Given the description of an element on the screen output the (x, y) to click on. 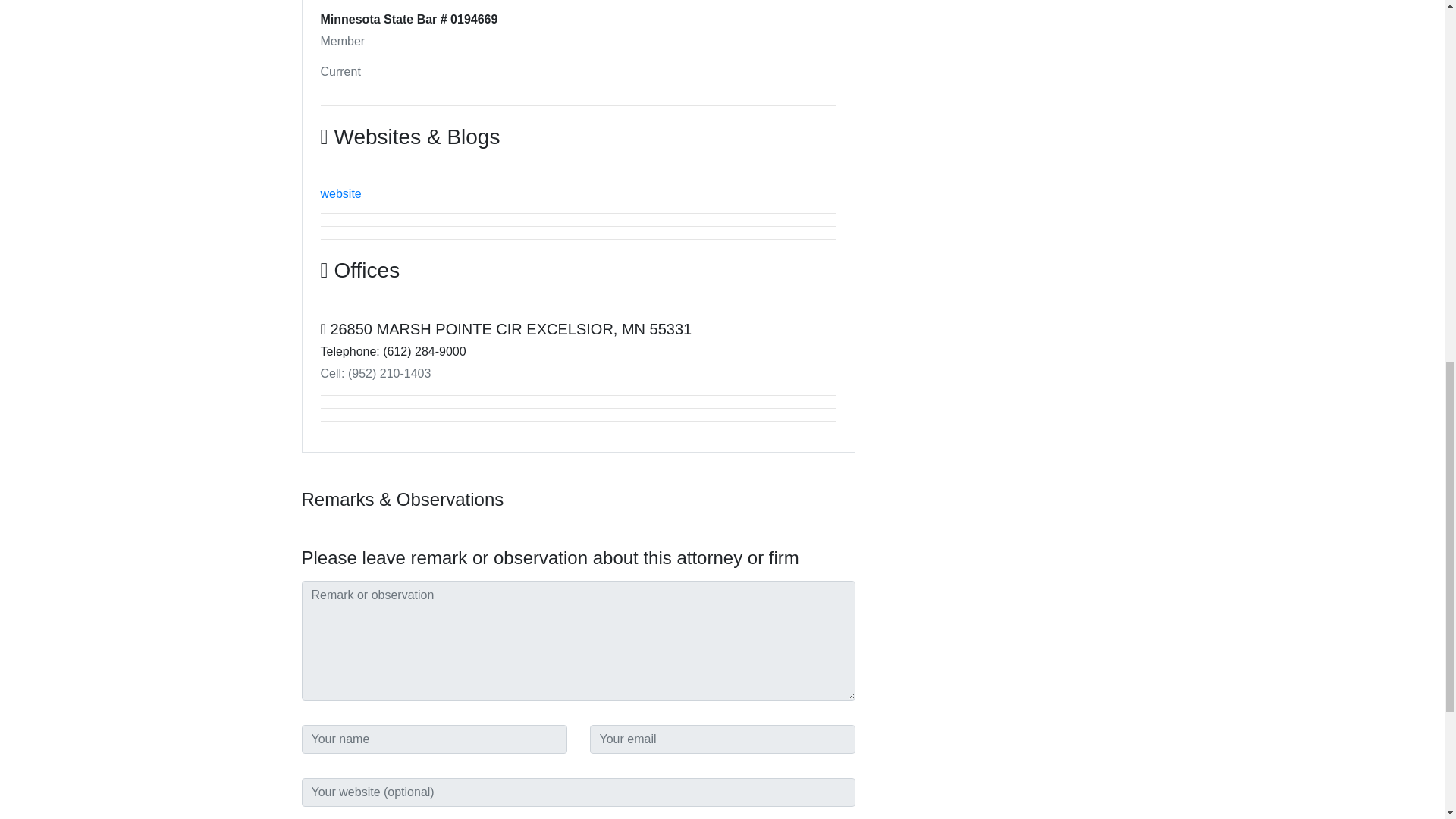
website (340, 193)
